Given the description of an element on the screen output the (x, y) to click on. 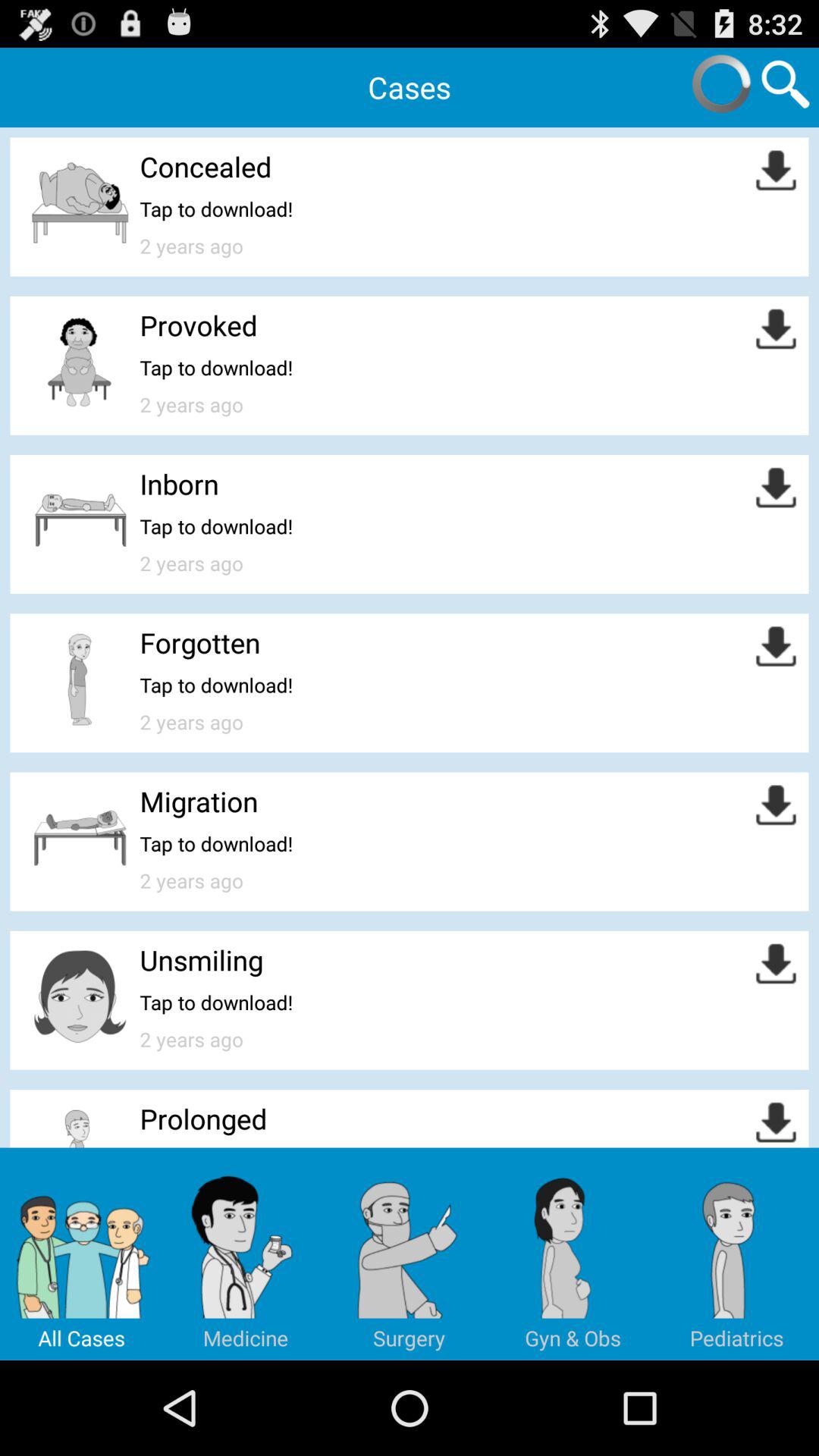
click item below the cases (205, 166)
